Given the description of an element on the screen output the (x, y) to click on. 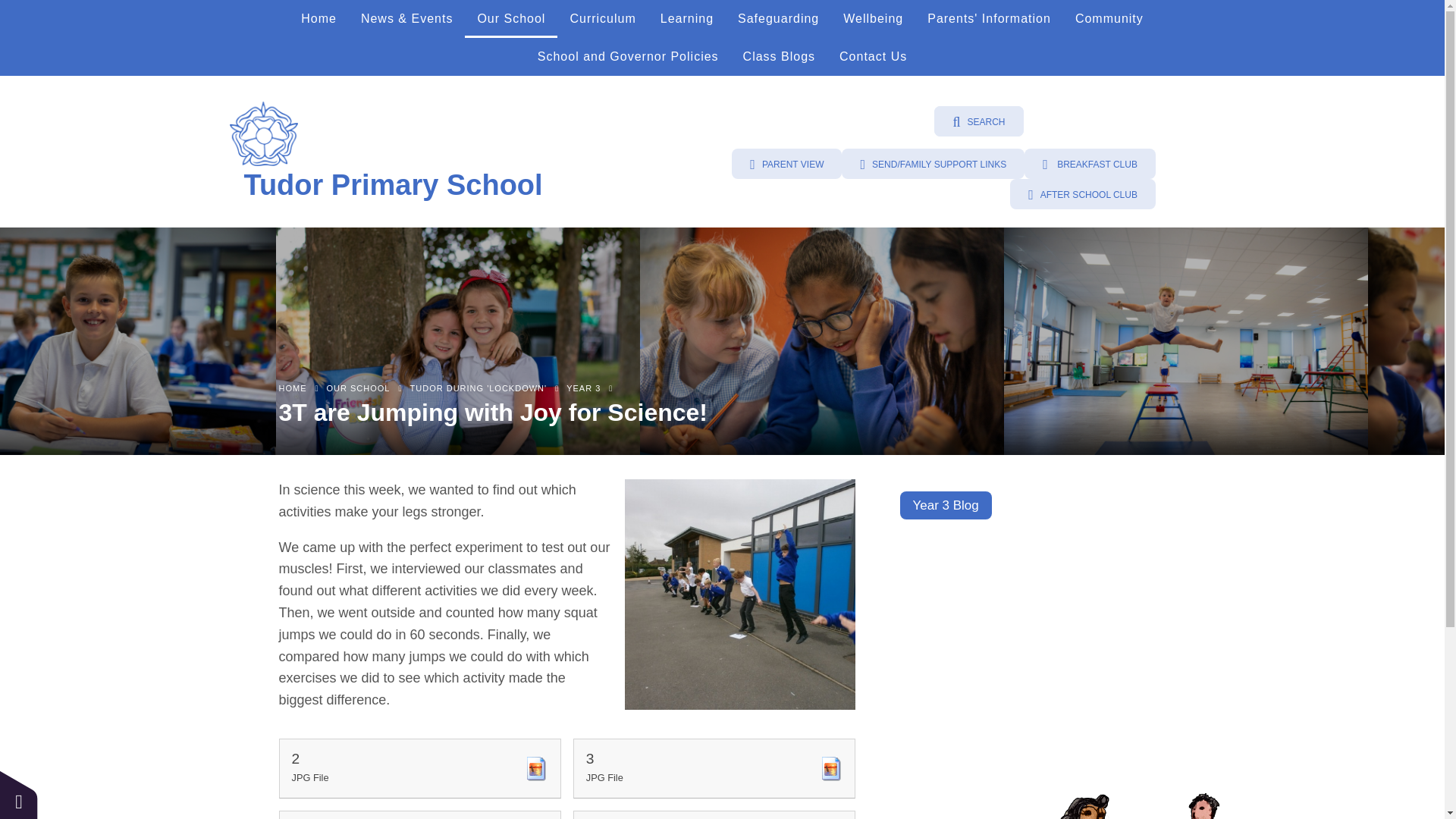
After School Club (1083, 194)
Home (318, 18)
  Breakfast Club   (1090, 163)
Parent View (786, 163)
Our School (510, 18)
